Given the description of an element on the screen output the (x, y) to click on. 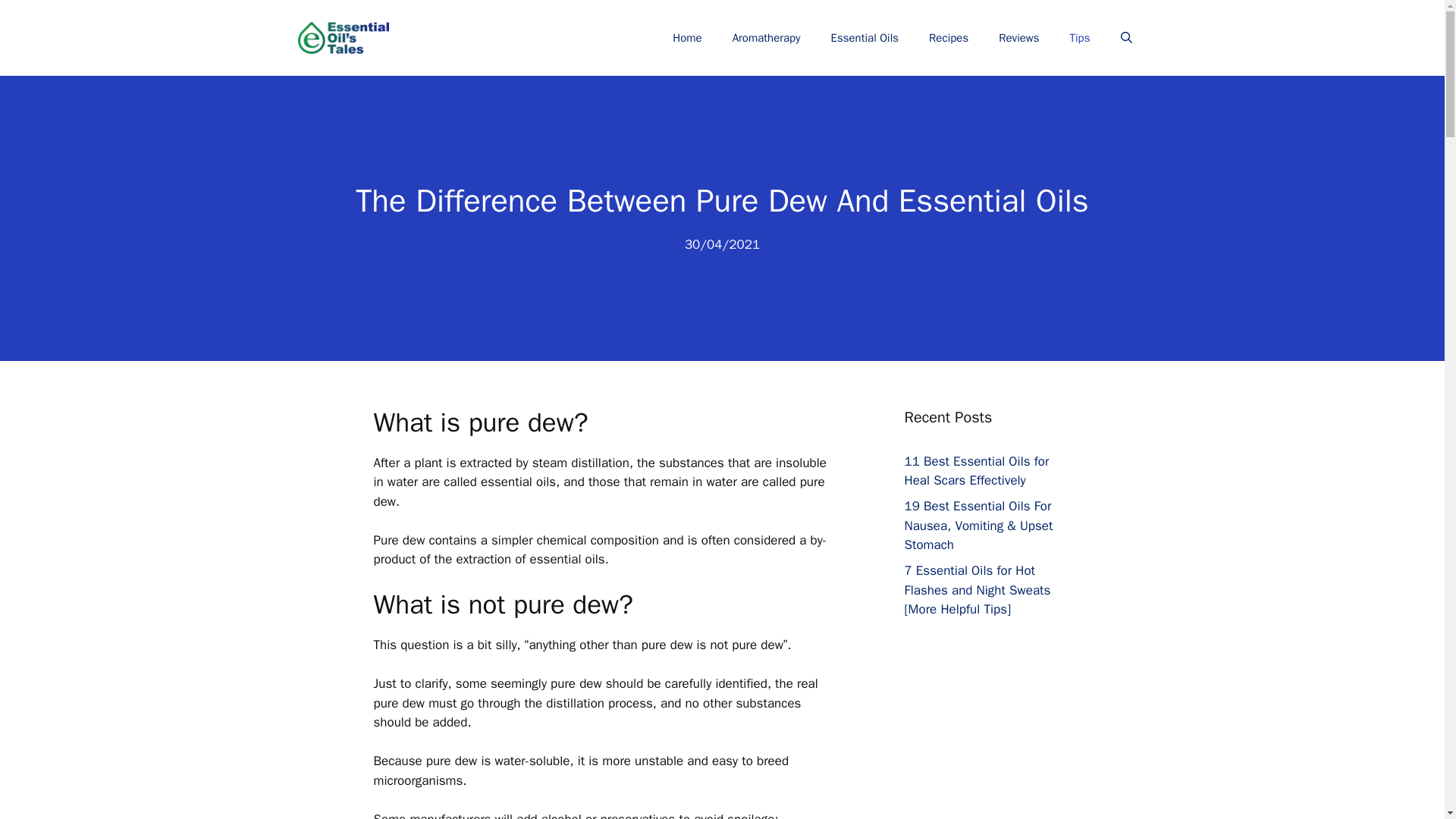
Essential Oils (864, 37)
Tips (1079, 37)
Advertisement (1002, 760)
Reviews (1019, 37)
Home (687, 37)
Aromatherapy (766, 37)
11 Best Essential Oils for Heal Scars Effectively (976, 470)
Recipes (949, 37)
